Given the description of an element on the screen output the (x, y) to click on. 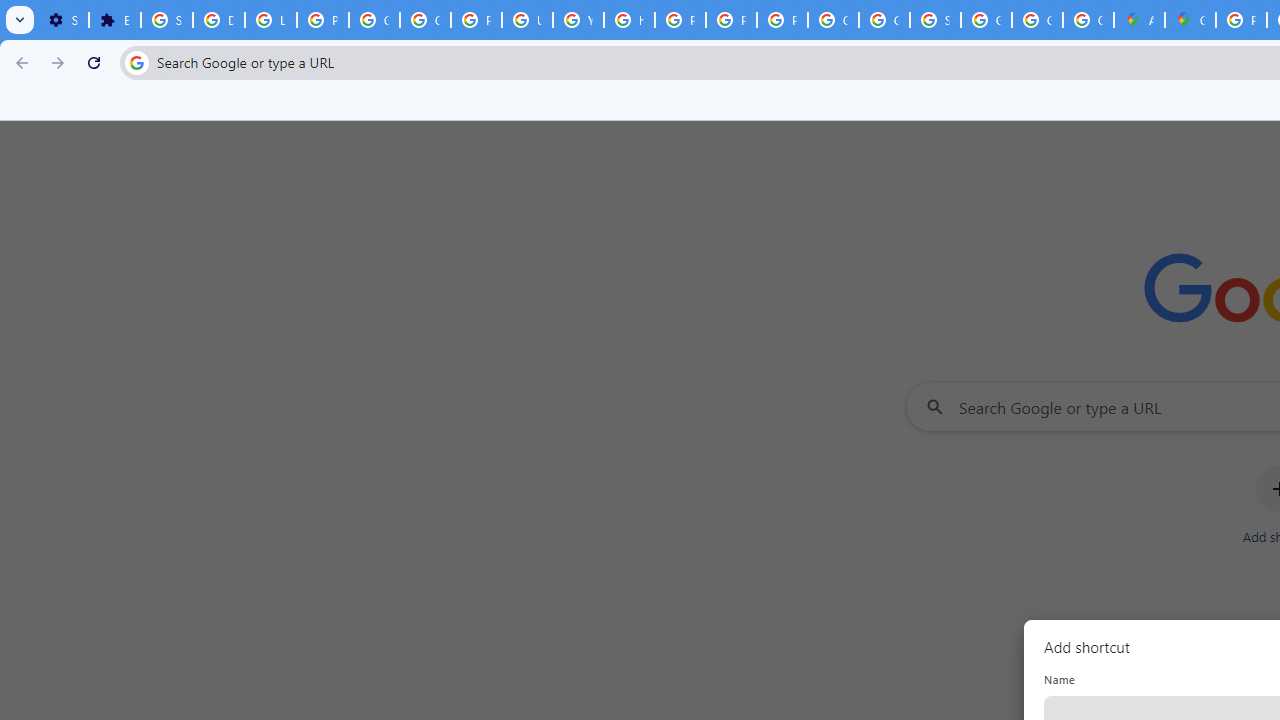
Create your Google Account (1087, 20)
YouTube (578, 20)
Policy Accountability and Transparency - Transparency Center (1241, 20)
Google Account Help (374, 20)
